Given the description of an element on the screen output the (x, y) to click on. 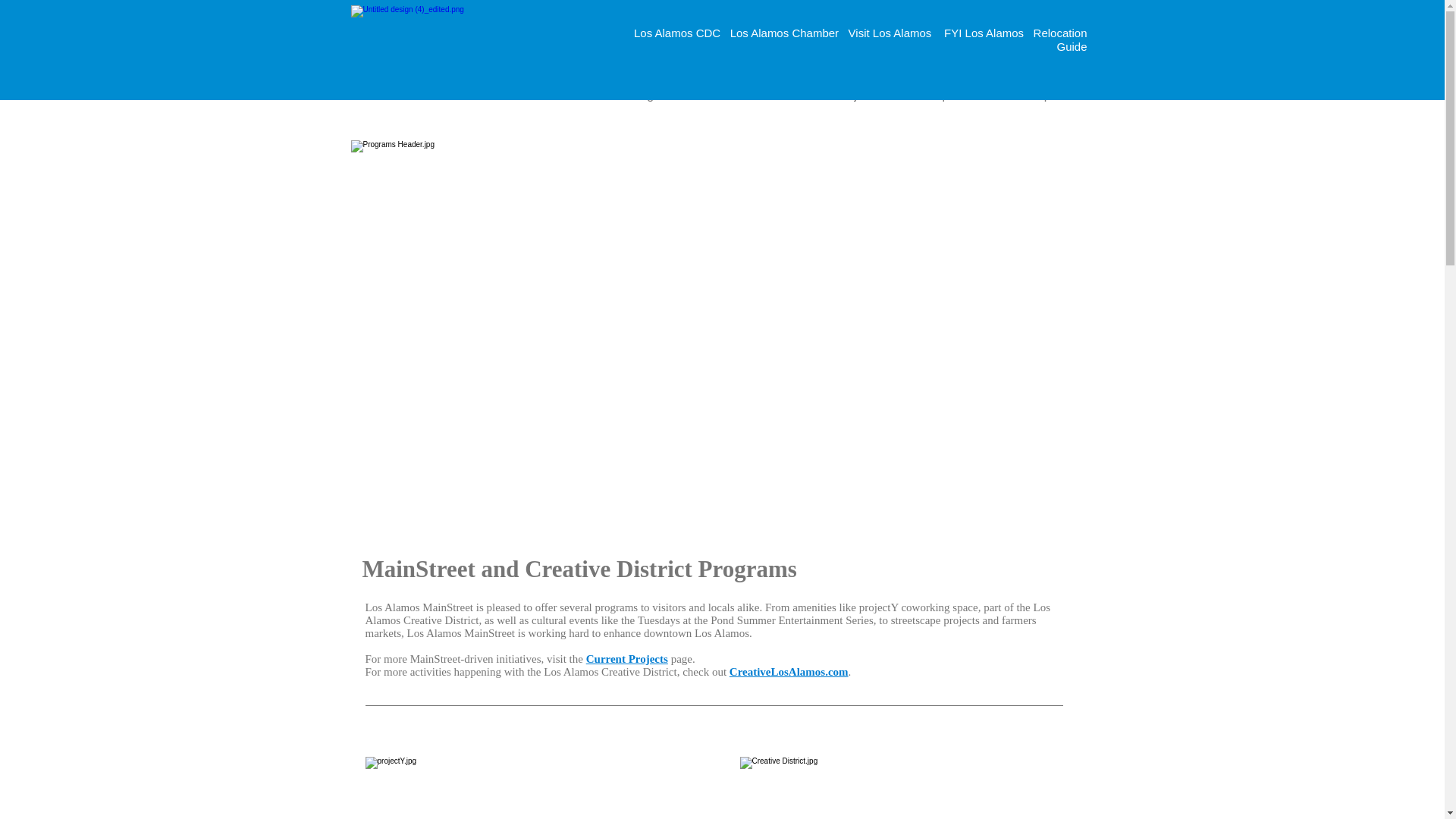
Programs (655, 95)
Events (564, 95)
Shop (1037, 95)
Properties (950, 95)
Visit Los Alamos (889, 32)
Home (409, 95)
Los Alamos Chamber   (787, 32)
CreativeLosAlamos.com (788, 671)
About (486, 95)
Los Alamos CDC    (681, 32)
Visit (734, 95)
.  (851, 671)
Current Projects (627, 658)
